Given the description of an element on the screen output the (x, y) to click on. 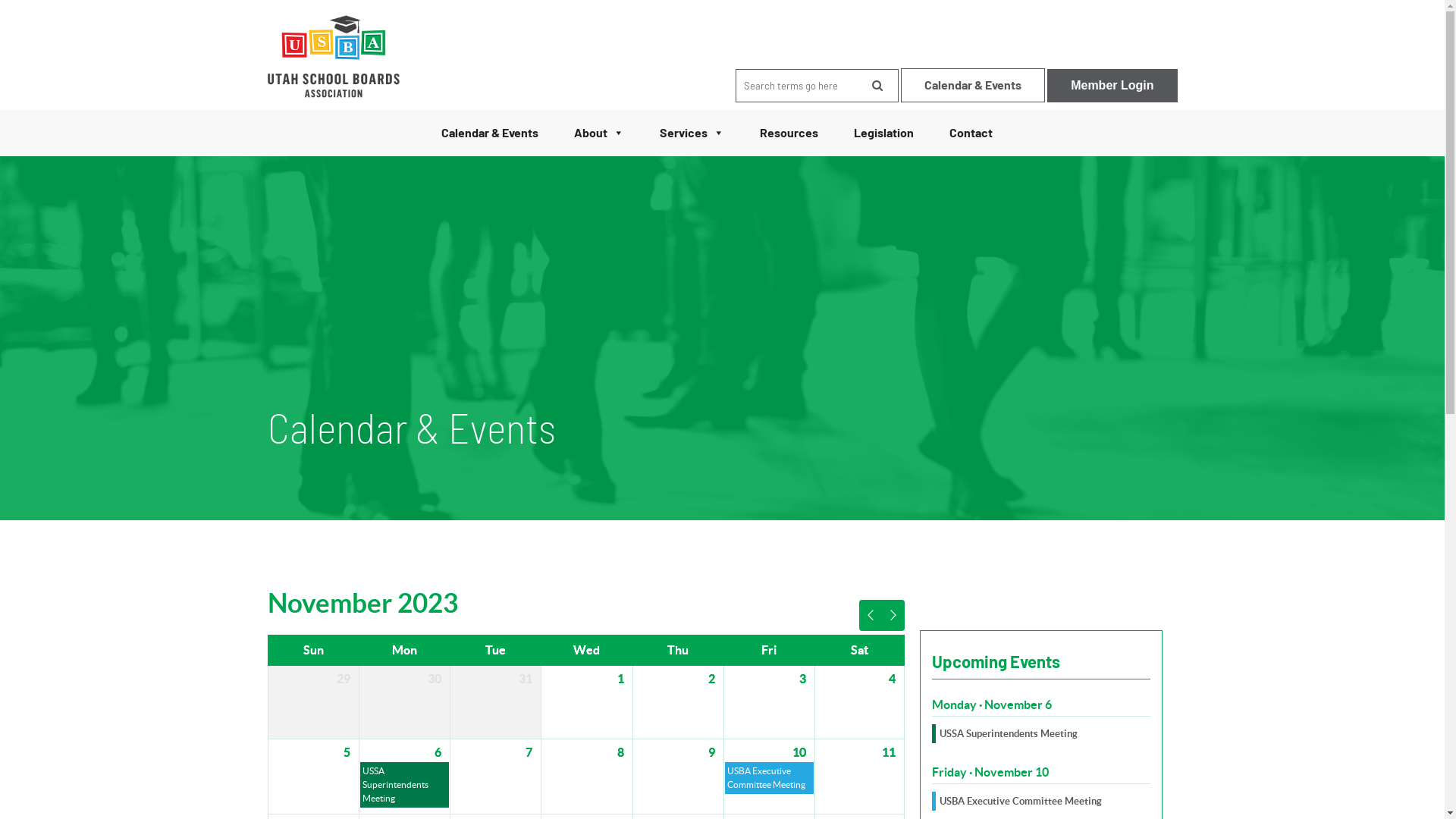
Services Element type: text (691, 132)
USBA Element type: text (332, 60)
Calendar & Events Element type: text (972, 84)
About Element type: text (598, 132)
USBA Executive Committee Meeting Element type: text (768, 777)
Member Login Element type: text (1111, 85)
Resources Element type: text (788, 132)
USBA Executive Committee Meeting Element type: text (1019, 800)
Calendar & Events Element type: text (489, 132)
USSA Superintendents Meeting Element type: text (404, 784)
Legislation Element type: text (883, 132)
Contact Element type: text (970, 132)
USSA Superintendents Meeting Element type: text (1007, 733)
